Given the description of an element on the screen output the (x, y) to click on. 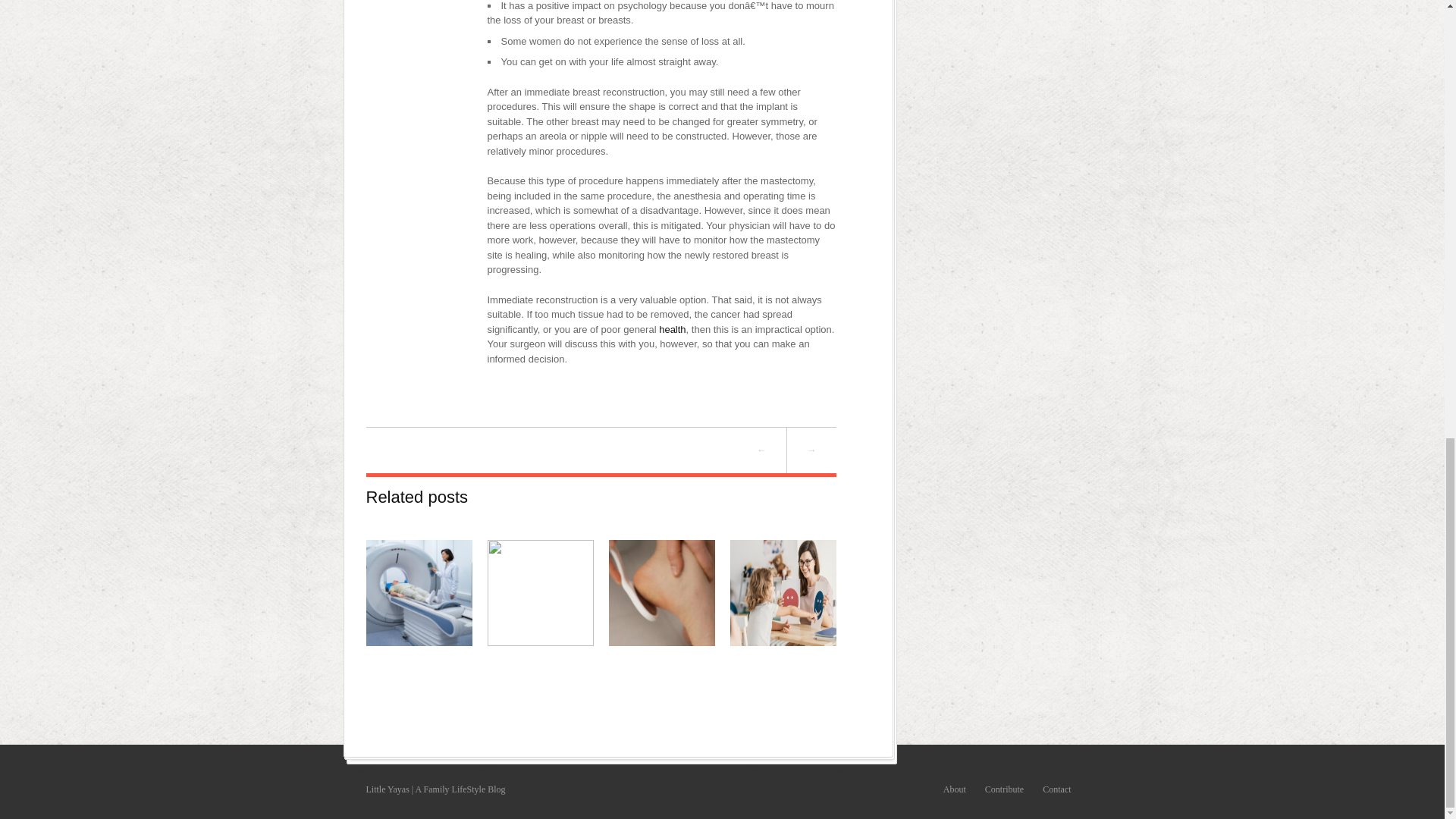
Little Yayas (387, 788)
health (672, 328)
